Given the description of an element on the screen output the (x, y) to click on. 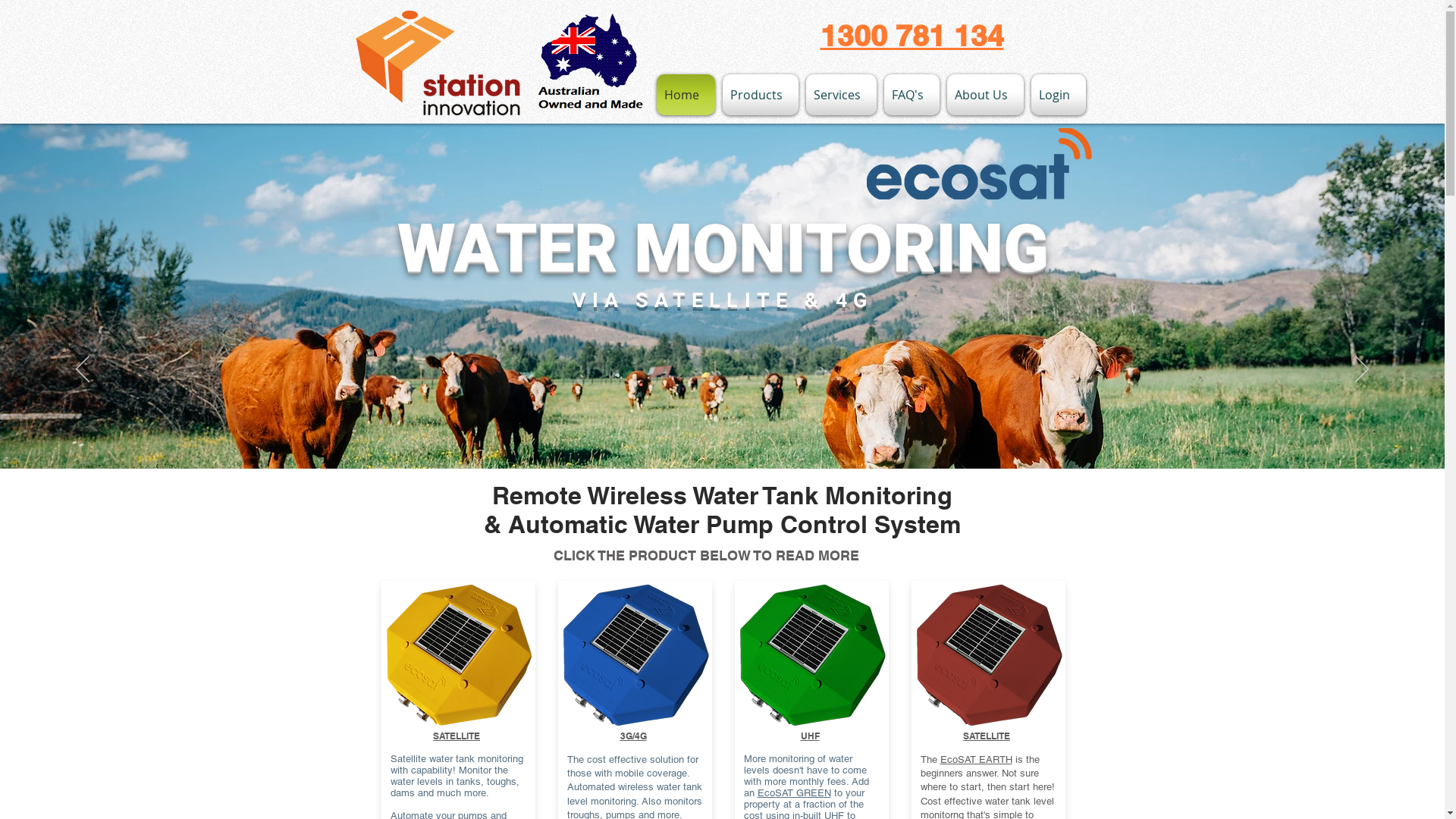
1300 781 134 Element type: text (912, 35)
SATELLITE Element type: text (986, 735)
UHF Element type: text (809, 735)
EcoSAT GREEN Element type: text (793, 792)
3G/4G Element type: text (633, 735)
EcoSAT EARTH Element type: text (976, 759)
Login Element type: text (1055, 94)
SATELLITE Element type: text (456, 735)
Home Element type: text (687, 94)
